Given the description of an element on the screen output the (x, y) to click on. 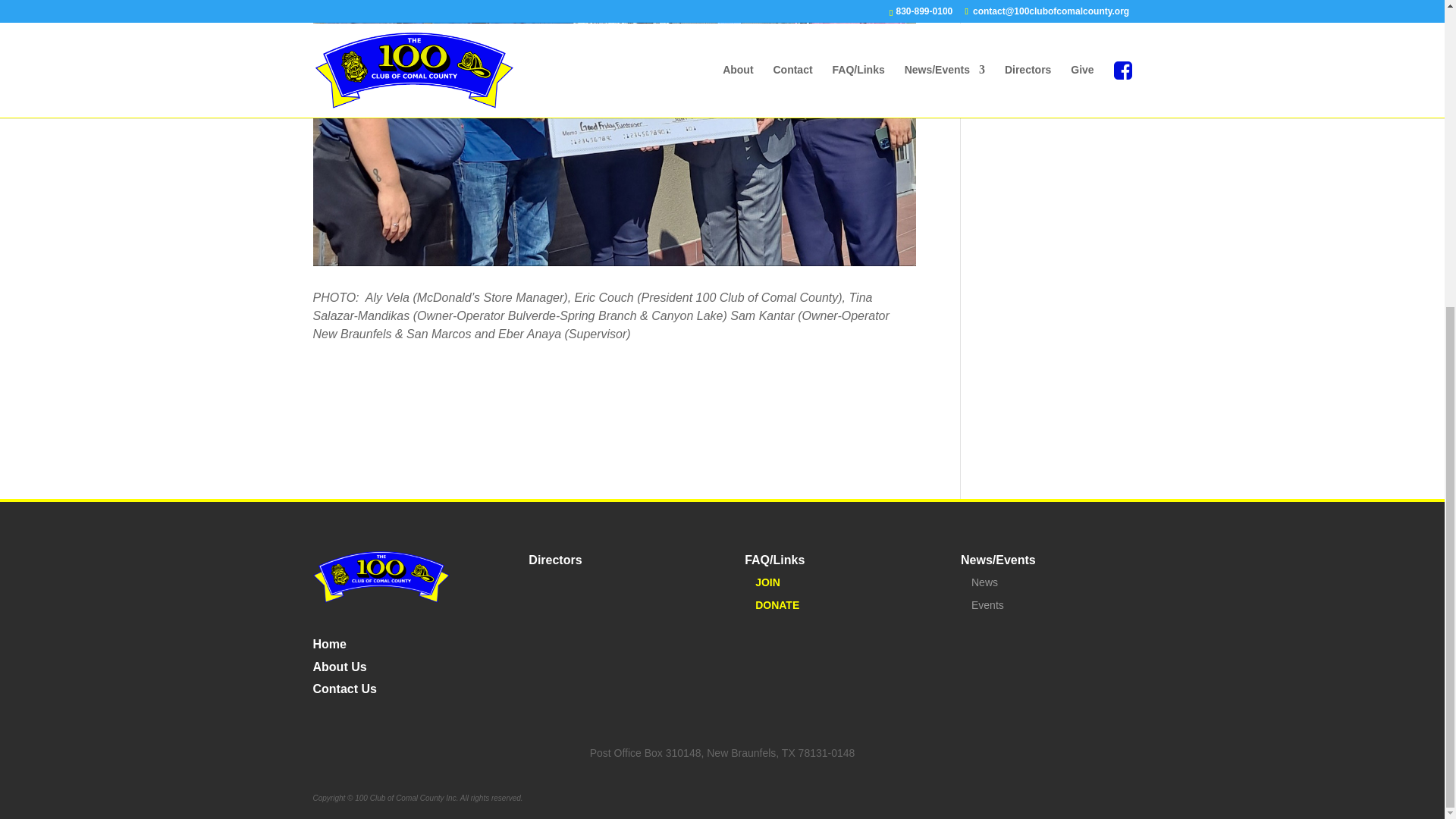
About Us (339, 663)
DONATE (771, 604)
Contact Us (344, 685)
JOIN (762, 582)
Directors (554, 559)
Home (329, 640)
News (978, 582)
Events (982, 604)
